Given the description of an element on the screen output the (x, y) to click on. 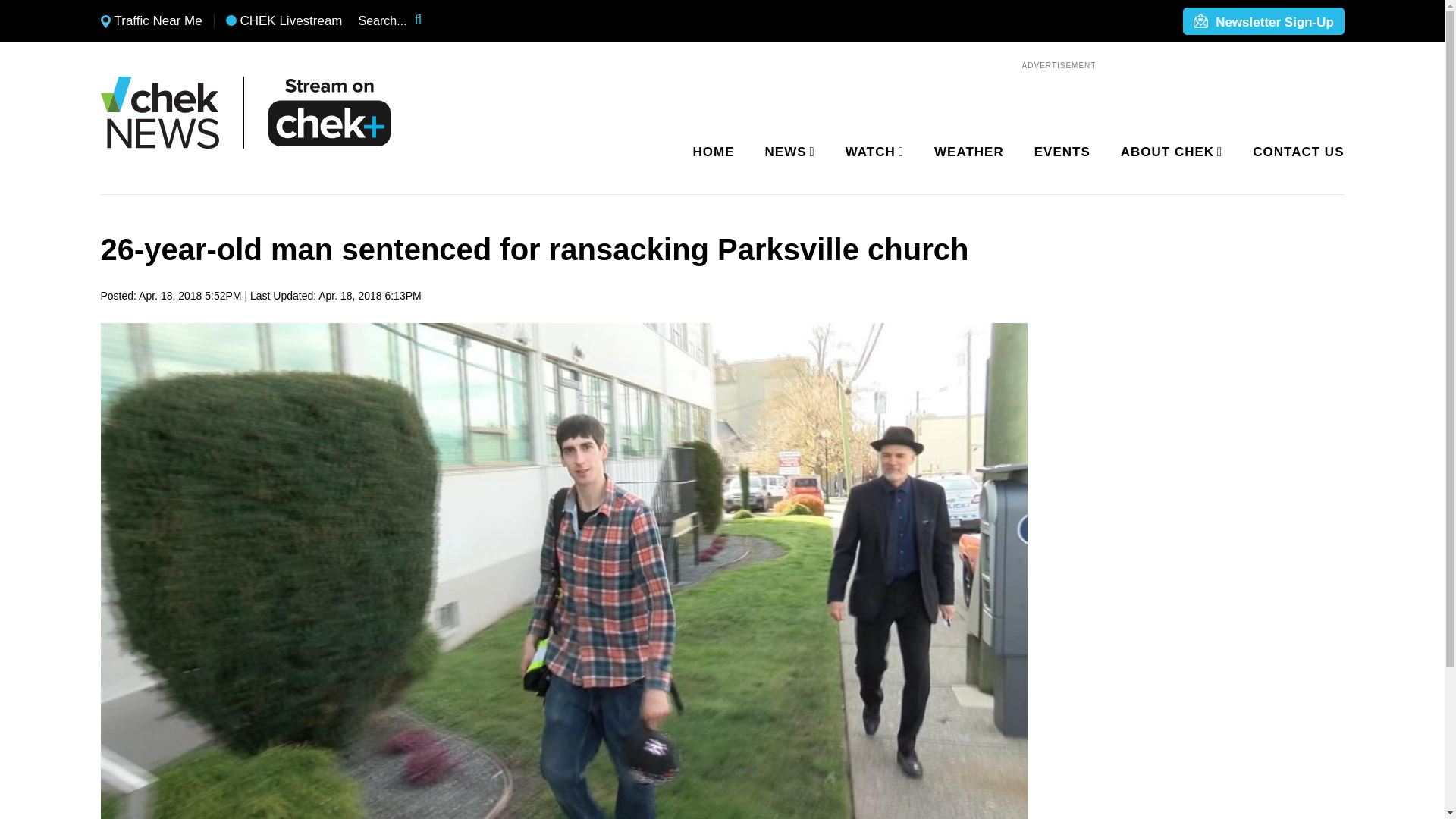
CHEK Livestream (283, 20)
HOME (714, 152)
NEWS (787, 152)
Search (428, 21)
Traffic Near Me (151, 20)
Newsletter Sign-Up (1262, 22)
